Given the description of an element on the screen output the (x, y) to click on. 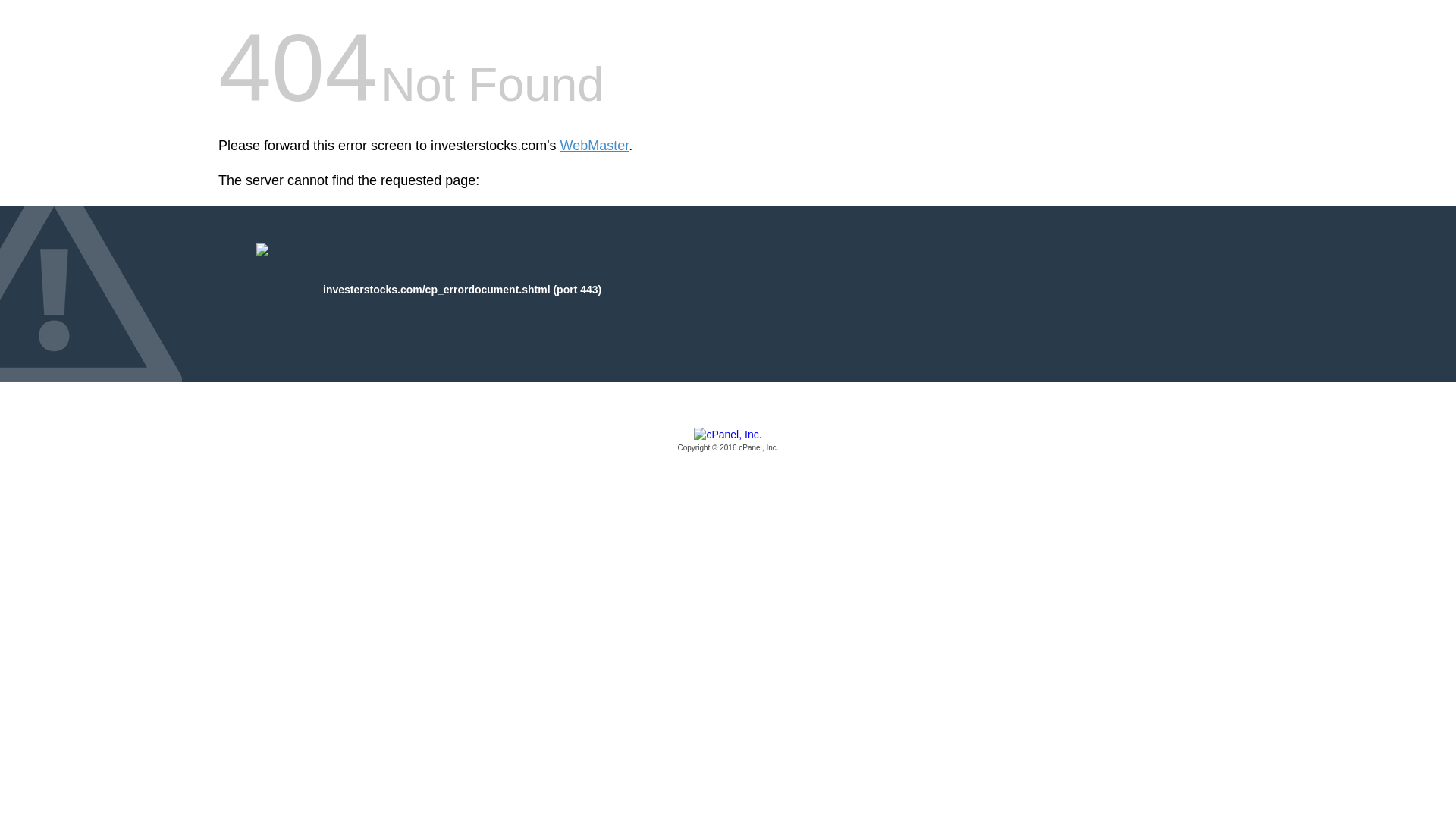
cPanel, Inc. (727, 440)
WebMaster (594, 145)
